Given the description of an element on the screen output the (x, y) to click on. 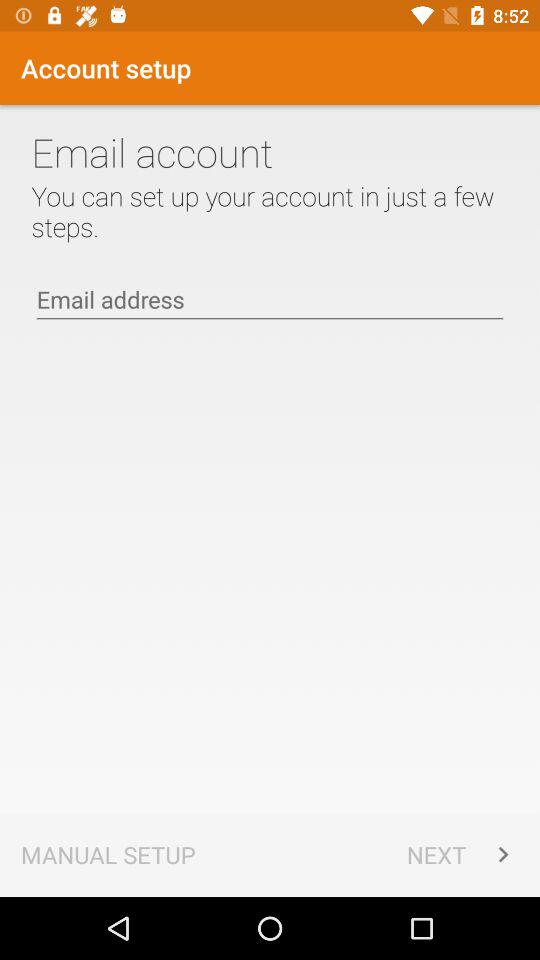
press the icon next to the manual setup item (462, 854)
